Given the description of an element on the screen output the (x, y) to click on. 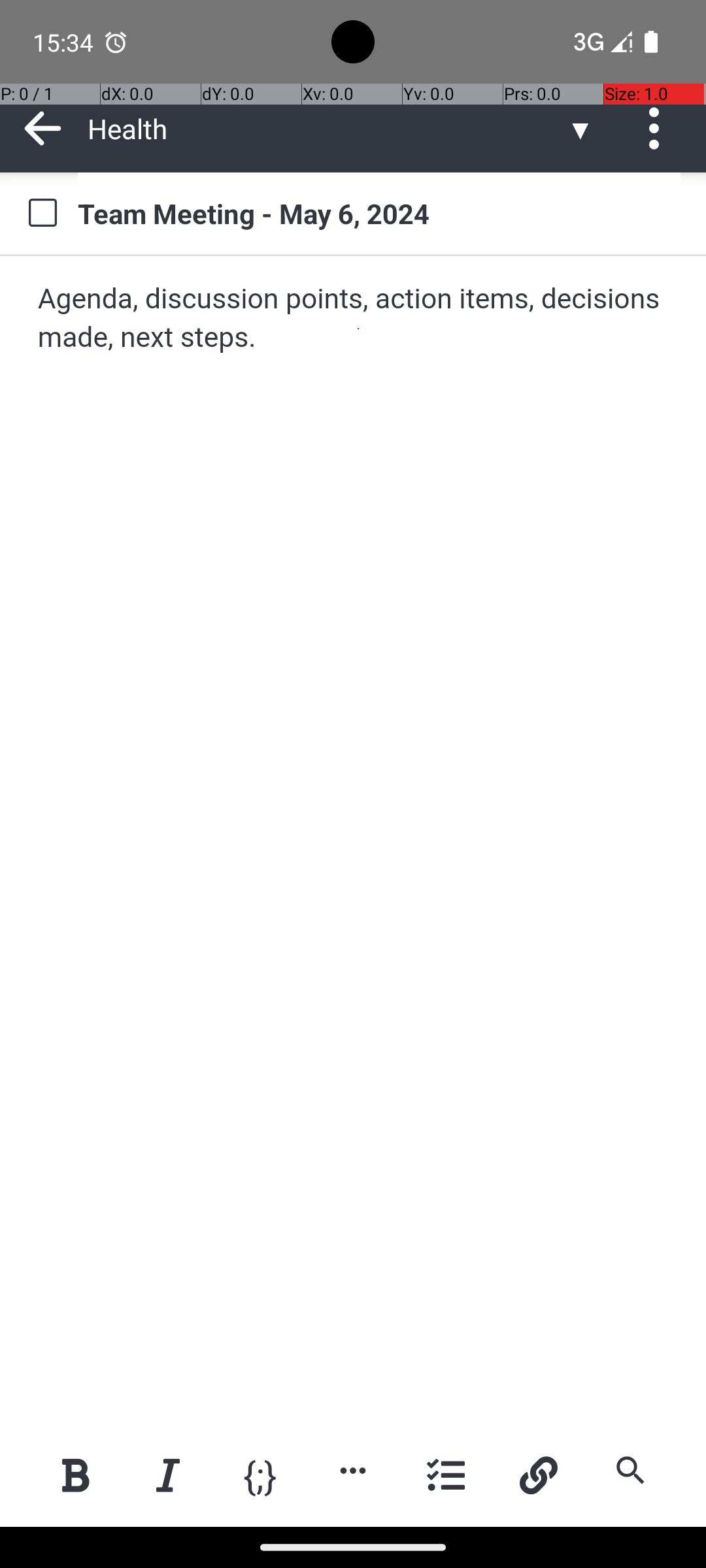
Agenda, discussion points, action items, decisions made, next steps. Element type: android.widget.EditText (354, 318)
